Given the description of an element on the screen output the (x, y) to click on. 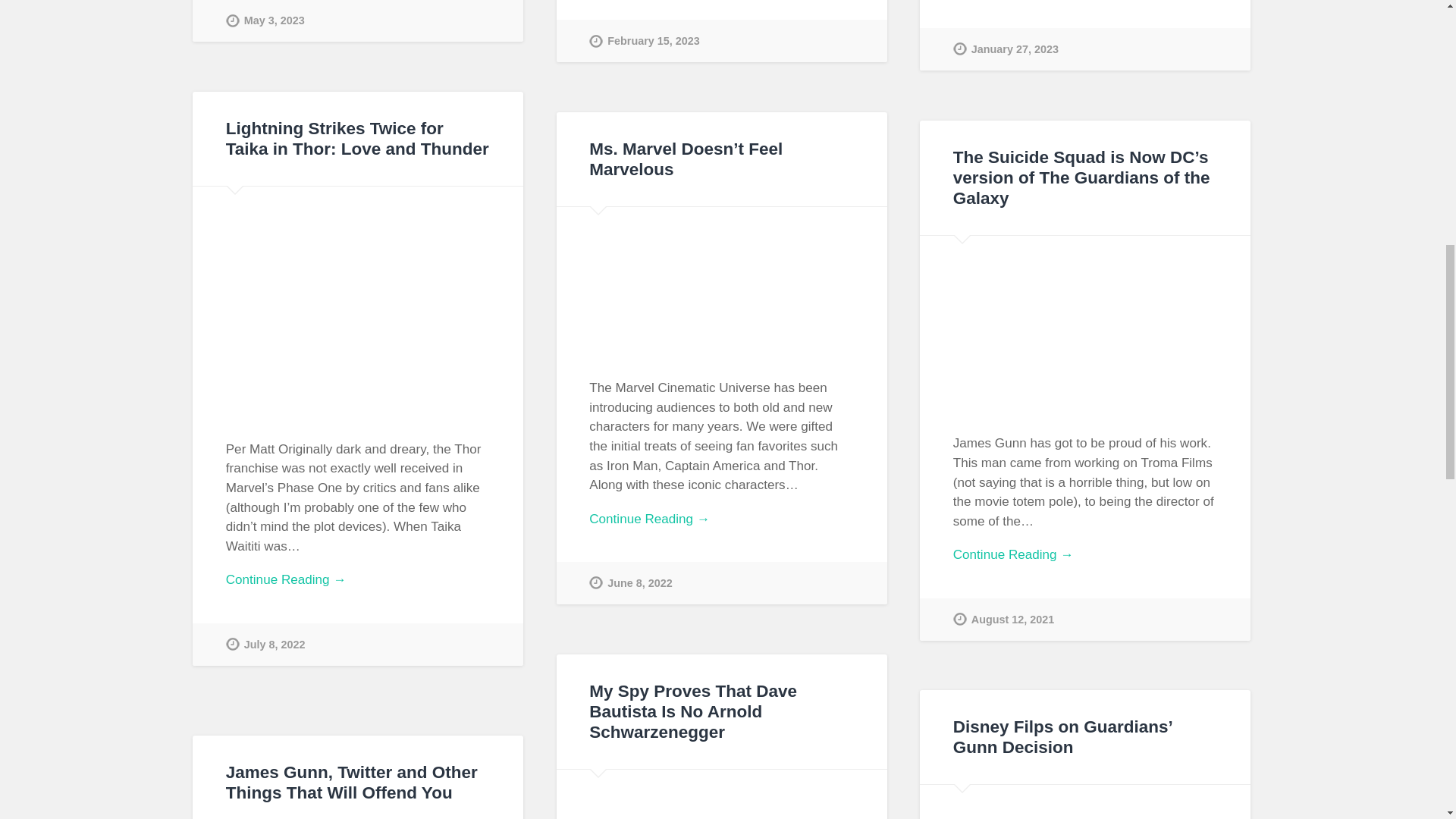
January 27, 2023 (1005, 48)
February 15, 2023 (644, 40)
James Gunn, Twitter and Other Things That Will Offend You (351, 782)
July 8, 2022 (265, 644)
My Spy Proves That Dave Bautista Is No Arnold Schwarzenegger (692, 711)
June 8, 2022 (630, 582)
August 12, 2021 (1003, 619)
Lightning Strikes Twice for Taika in Thor: Love and Thunder (357, 138)
May 3, 2023 (264, 20)
